Given the description of an element on the screen output the (x, y) to click on. 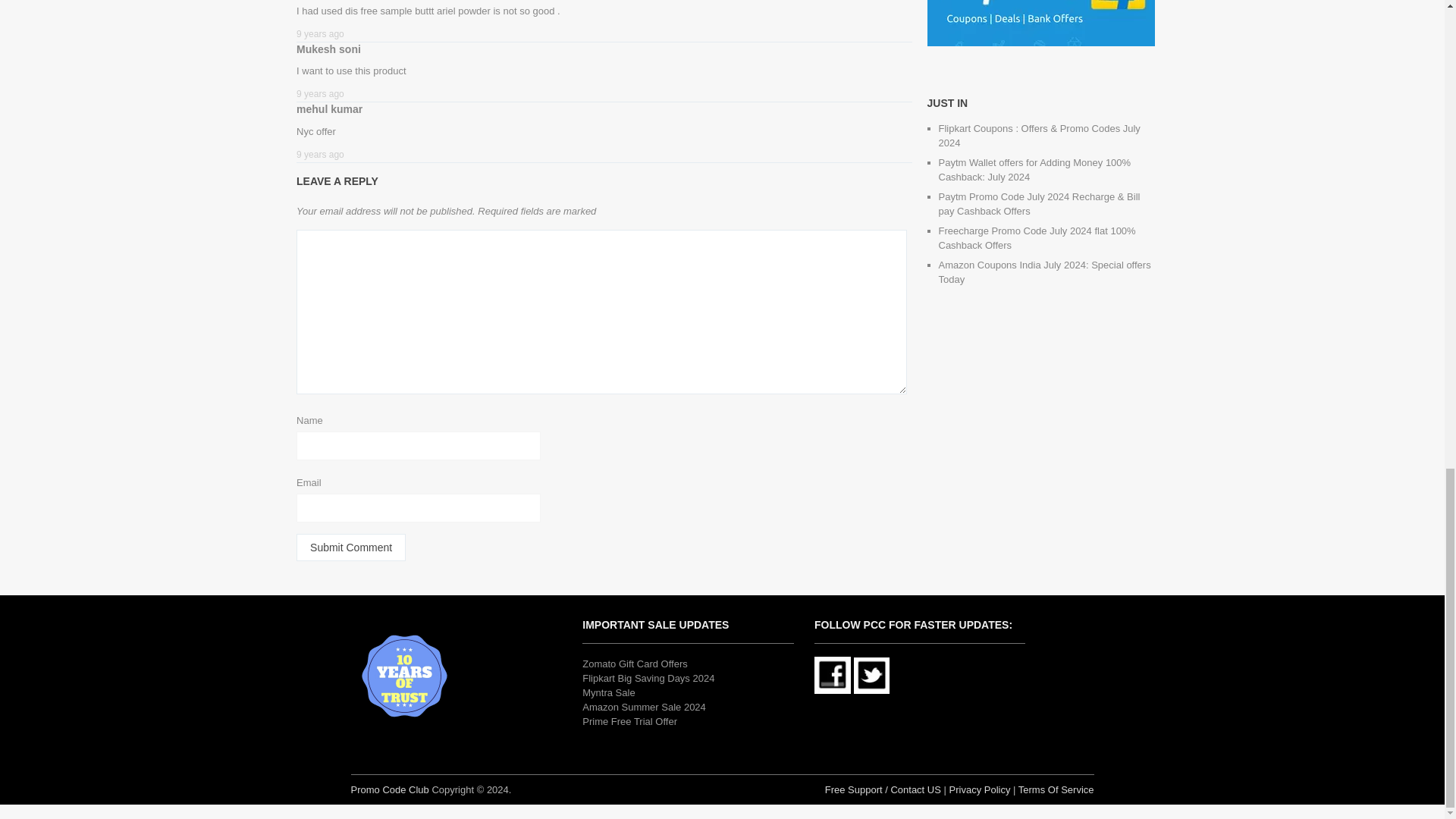
Submit Comment (351, 547)
Submit Comment (351, 547)
Coupons, Offers, Deals on Online Shopping (389, 789)
